Given the description of an element on the screen output the (x, y) to click on. 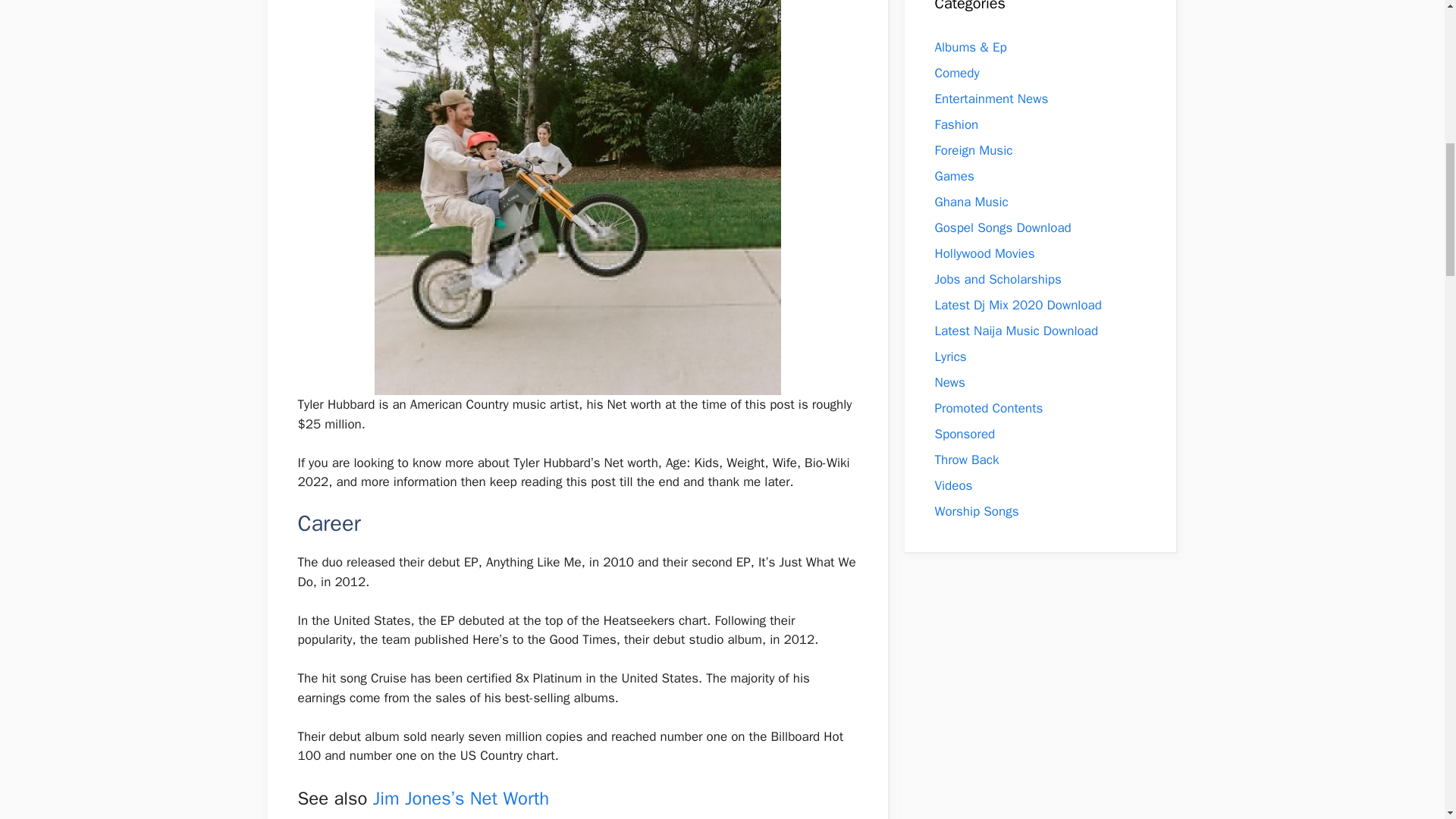
Foreign Music (972, 150)
Fashion (956, 124)
Games (954, 176)
Comedy (956, 73)
Entertainment News (991, 98)
Ghana Music (970, 201)
